Given the description of an element on the screen output the (x, y) to click on. 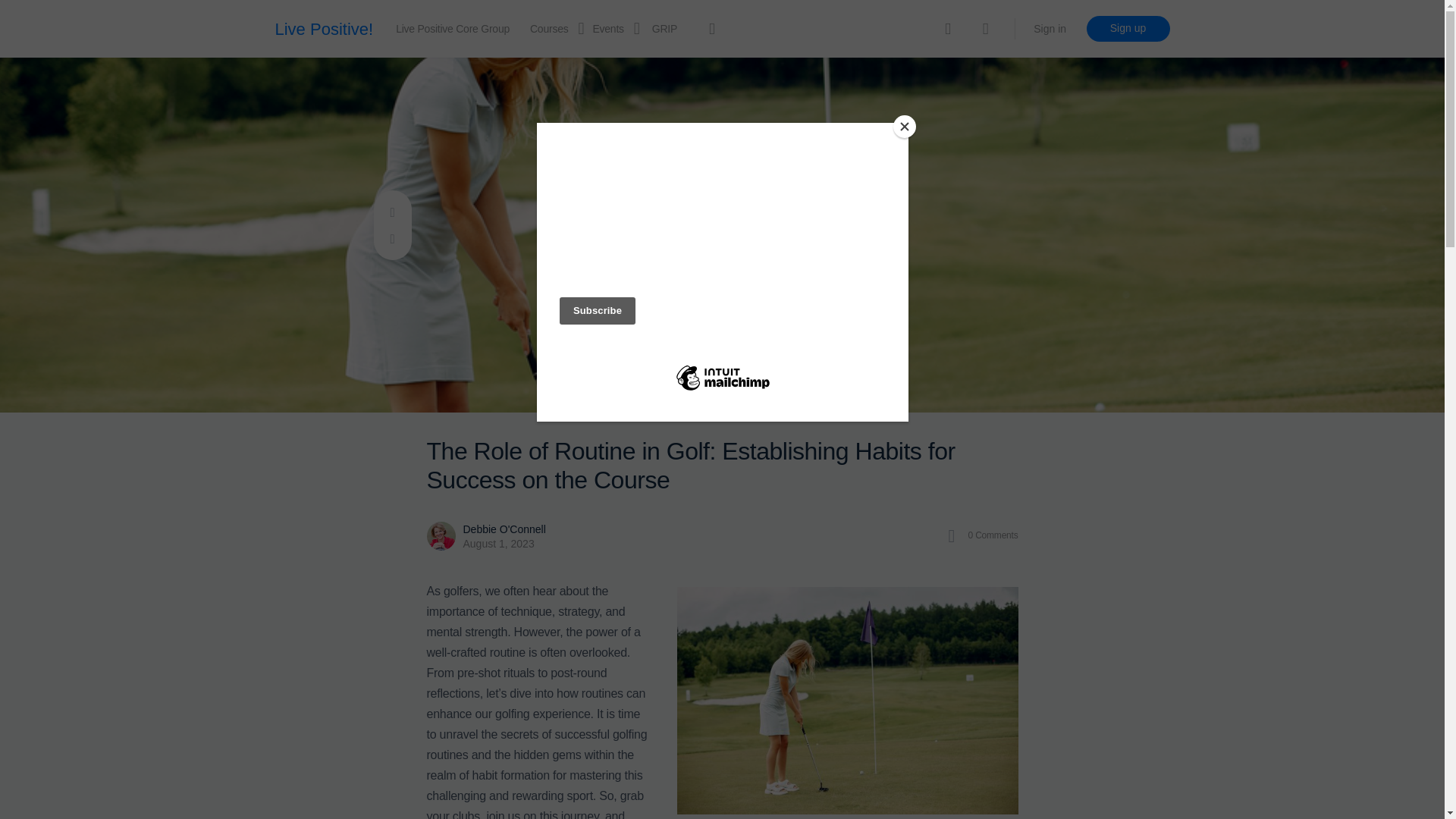
Live Positive! (323, 28)
Live Positive Core Group (452, 28)
Sign up (1127, 28)
Sign in (1050, 28)
0 Comments (978, 535)
August 1, 2023 (498, 543)
Debbie O'Connell (503, 529)
